Given the description of an element on the screen output the (x, y) to click on. 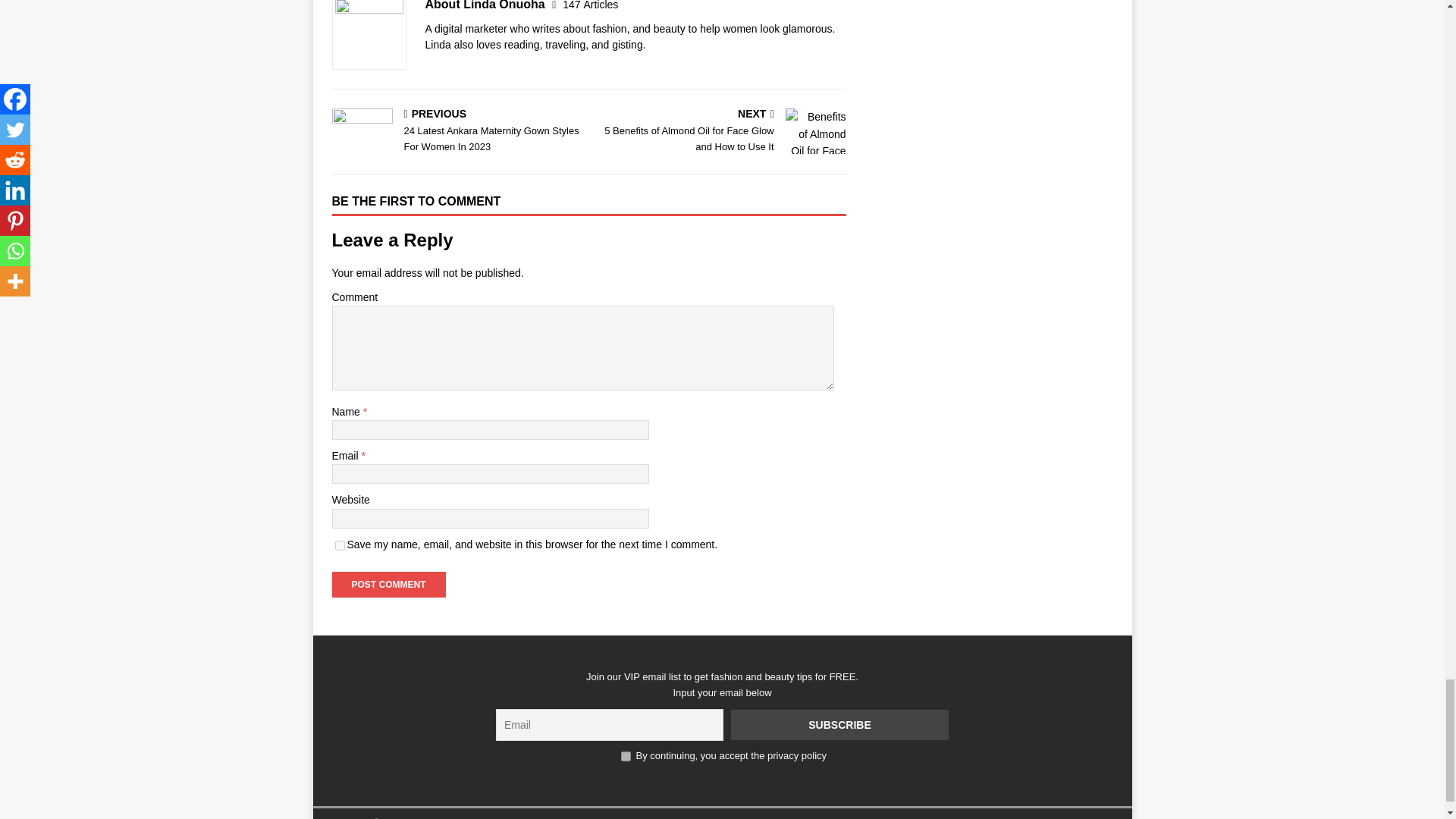
yes (339, 545)
Subscribe (839, 725)
Post Comment (388, 584)
on (625, 756)
